Given the description of an element on the screen output the (x, y) to click on. 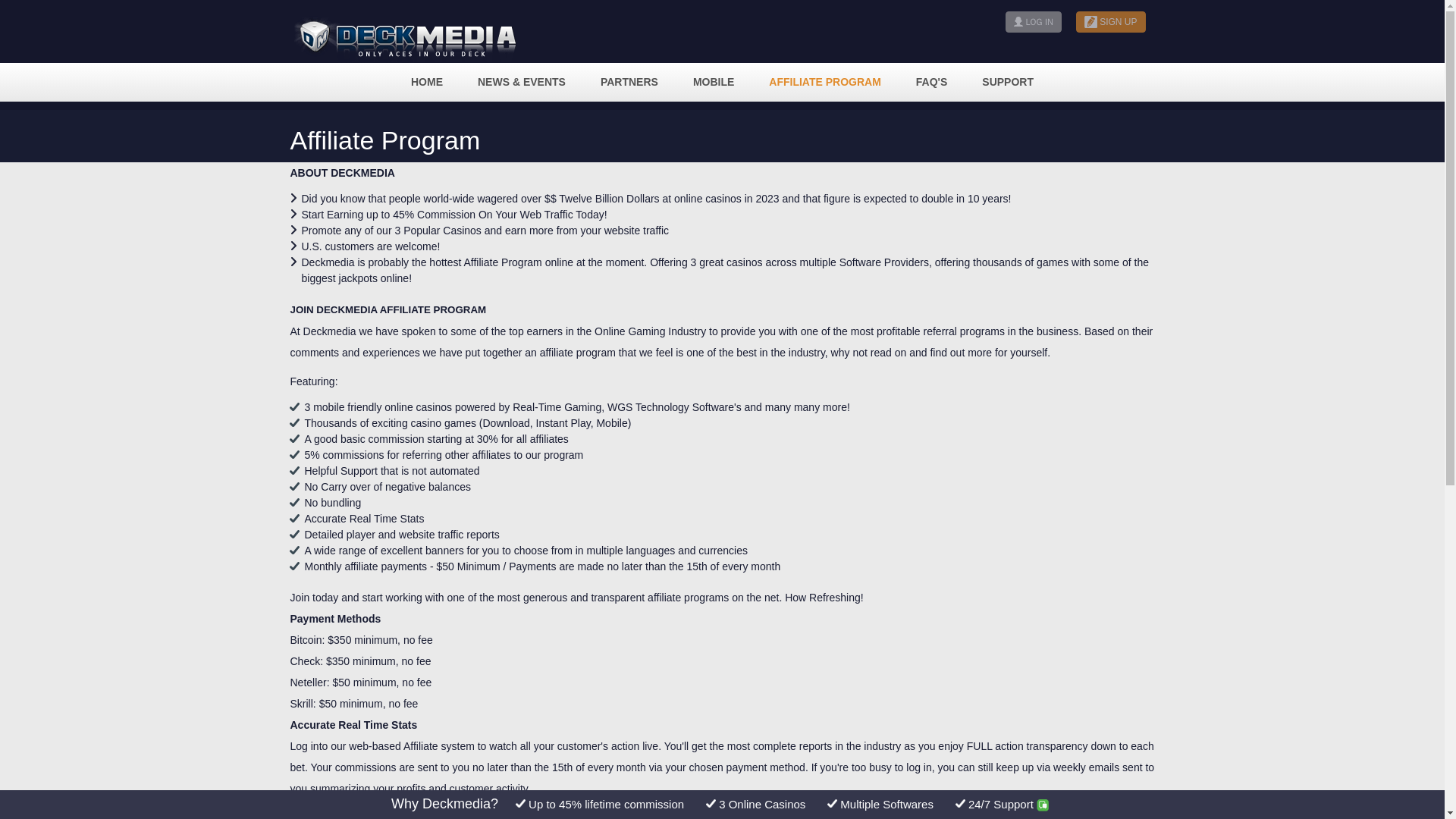
SIGN UP (1110, 21)
FAQ'S (931, 81)
LOG IN (1033, 21)
HOME (427, 81)
AFFILIATE PROGRAM (824, 81)
MOBILE (713, 81)
SIGN UP (1107, 20)
SUPPORT (1008, 81)
PARTNERS (629, 81)
